Given the description of an element on the screen output the (x, y) to click on. 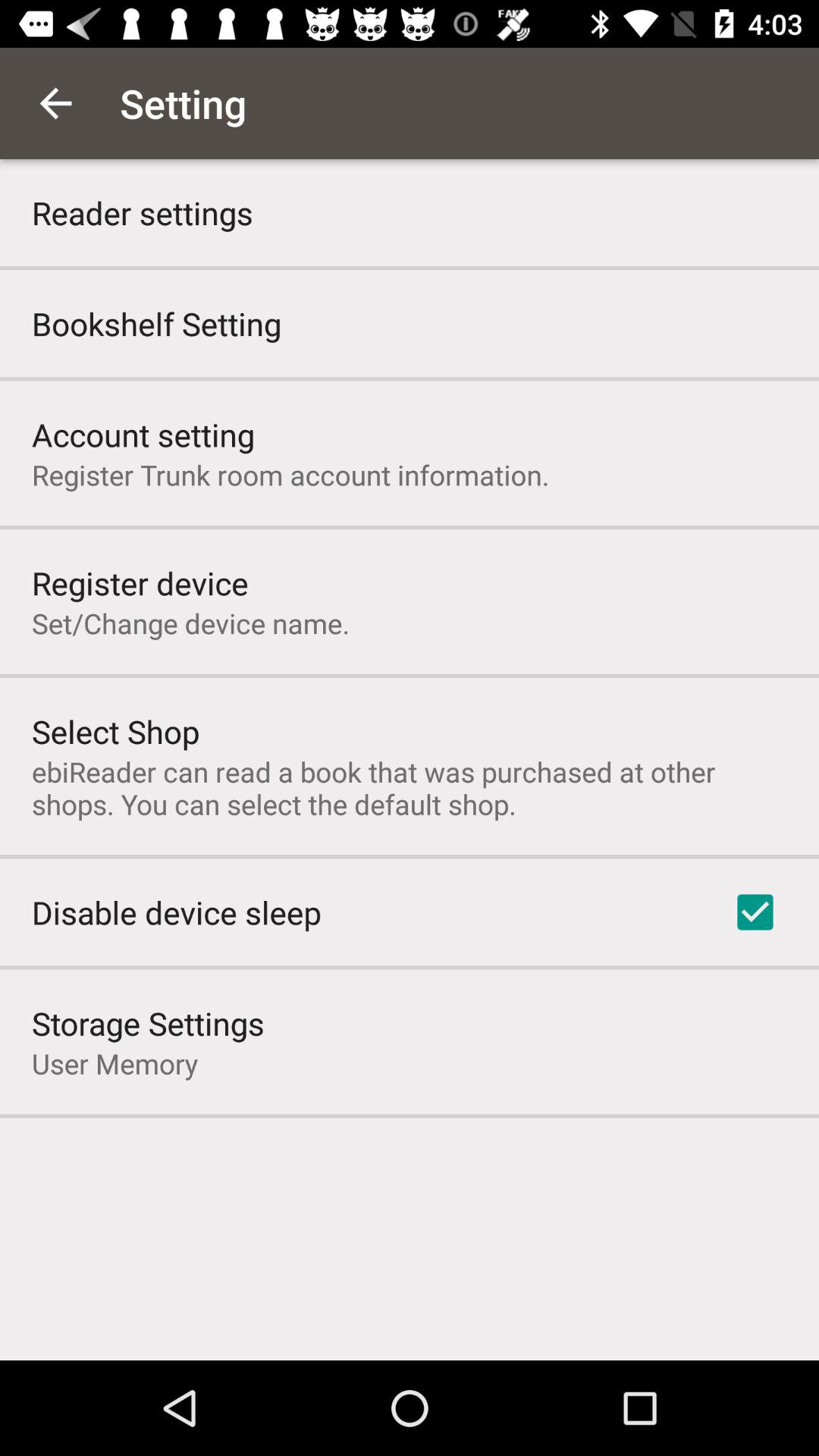
select app above select shop app (190, 623)
